Given the description of an element on the screen output the (x, y) to click on. 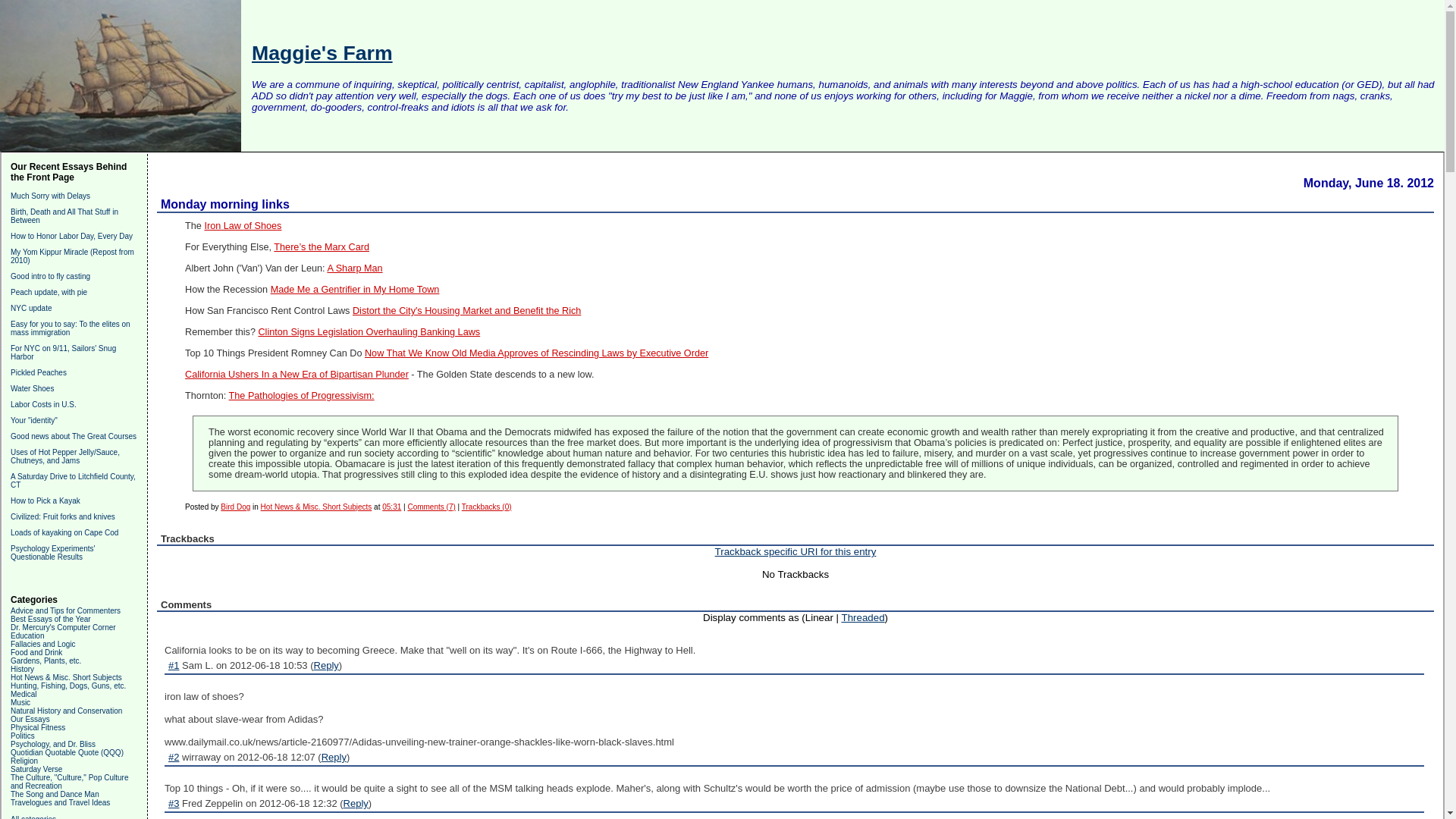
Peach update, with pie (48, 292)
Easy for you to say: To the elites on mass immigration (70, 328)
Easy for you to say: To the elites on mass immigration (70, 328)
Pickled Peaches (38, 372)
Food and Drink (36, 652)
Natural History and Conservation (66, 710)
Politics (22, 736)
How to Honor Labor Day, Every Day (71, 235)
Water Shoes (31, 388)
NYC update (30, 307)
Water Shoes (31, 388)
Much Sorry with Delays   (50, 195)
How to Honor Labor Day, Every Day (71, 235)
Good news about The Great Courses (73, 436)
Labor Costs in U.S. (43, 404)
